Given the description of an element on the screen output the (x, y) to click on. 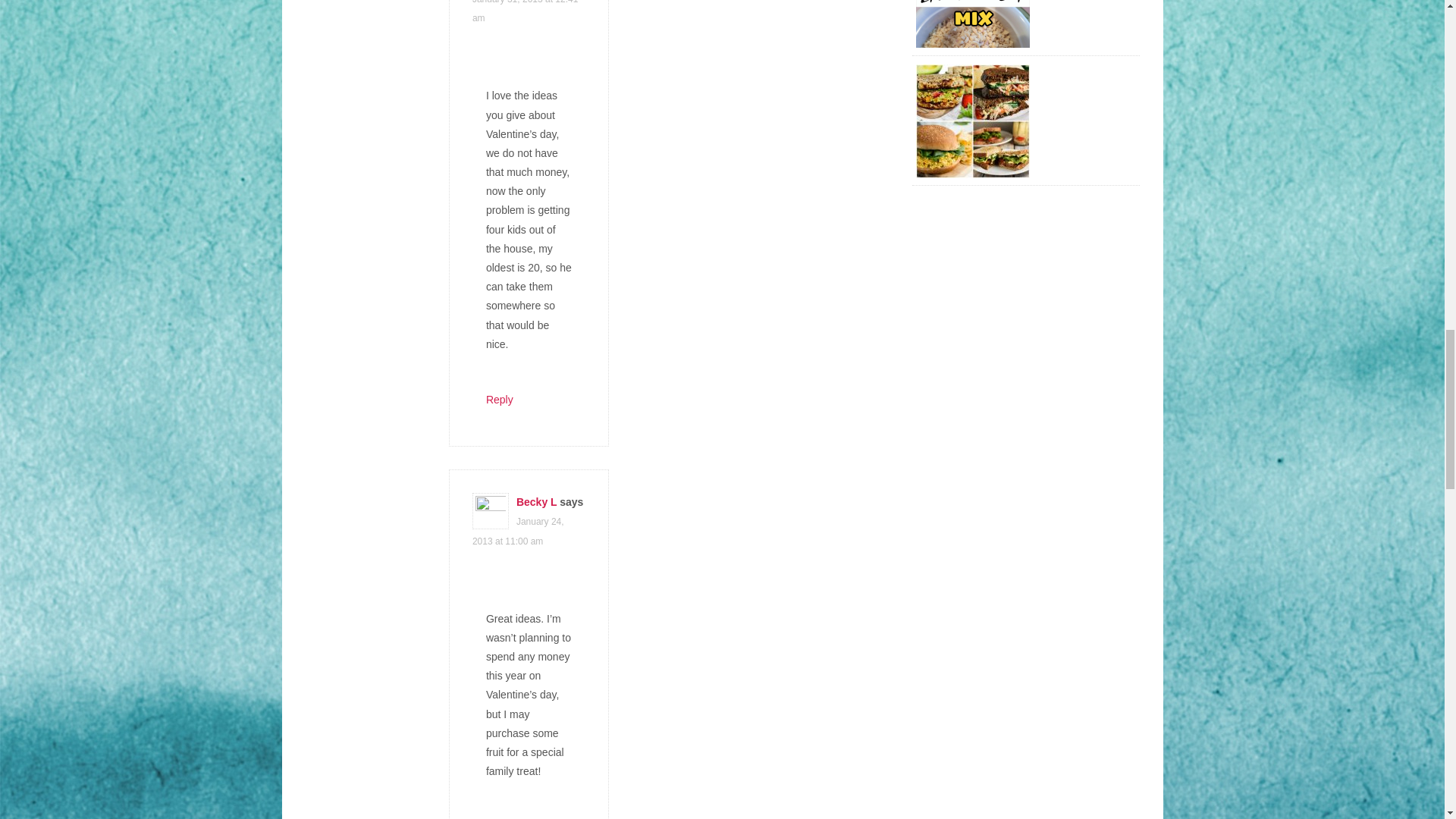
Better than Lipton's Onion Soup Mix (972, 23)
